Given the description of an element on the screen output the (x, y) to click on. 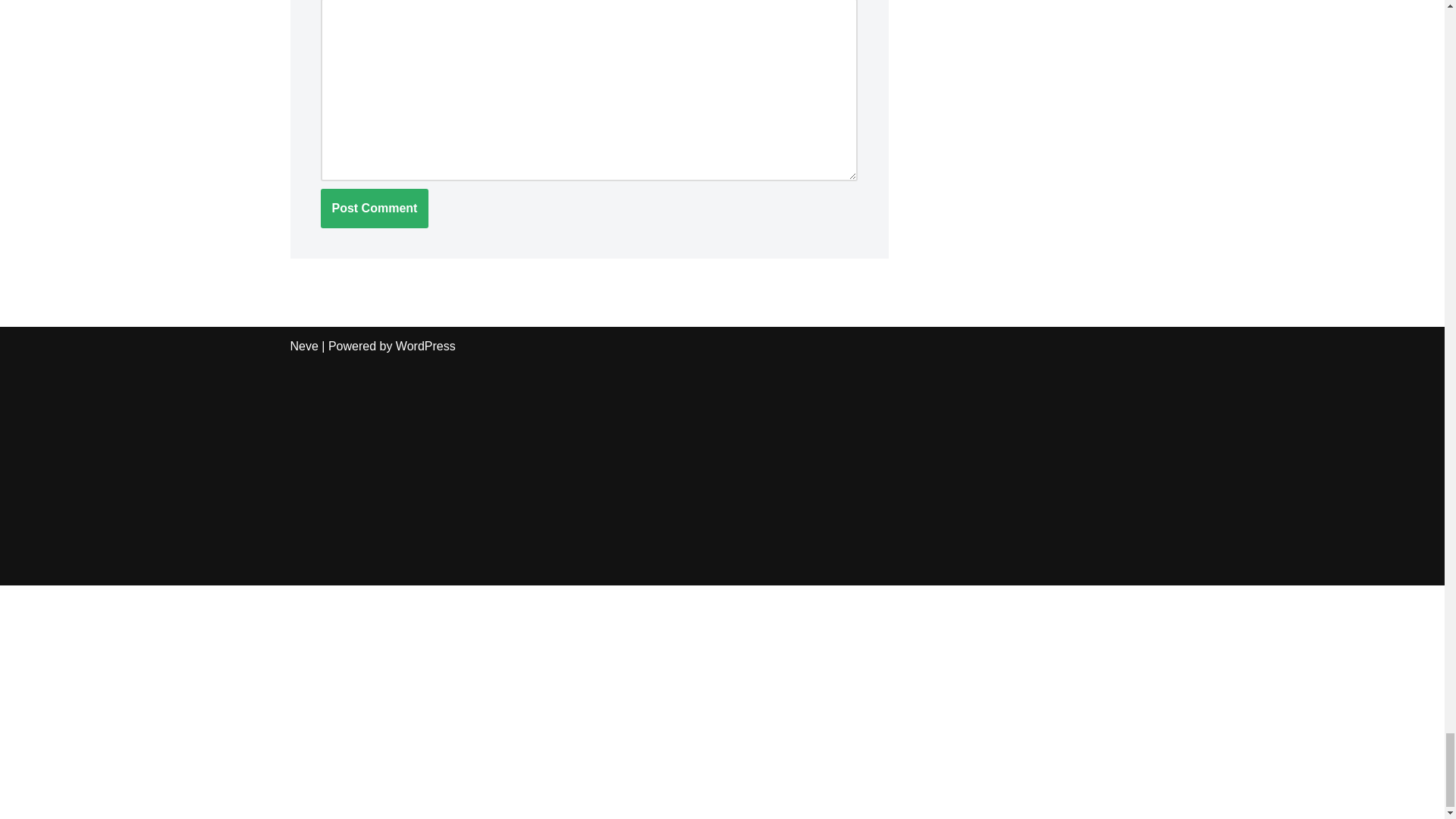
Post Comment (374, 208)
